Given the description of an element on the screen output the (x, y) to click on. 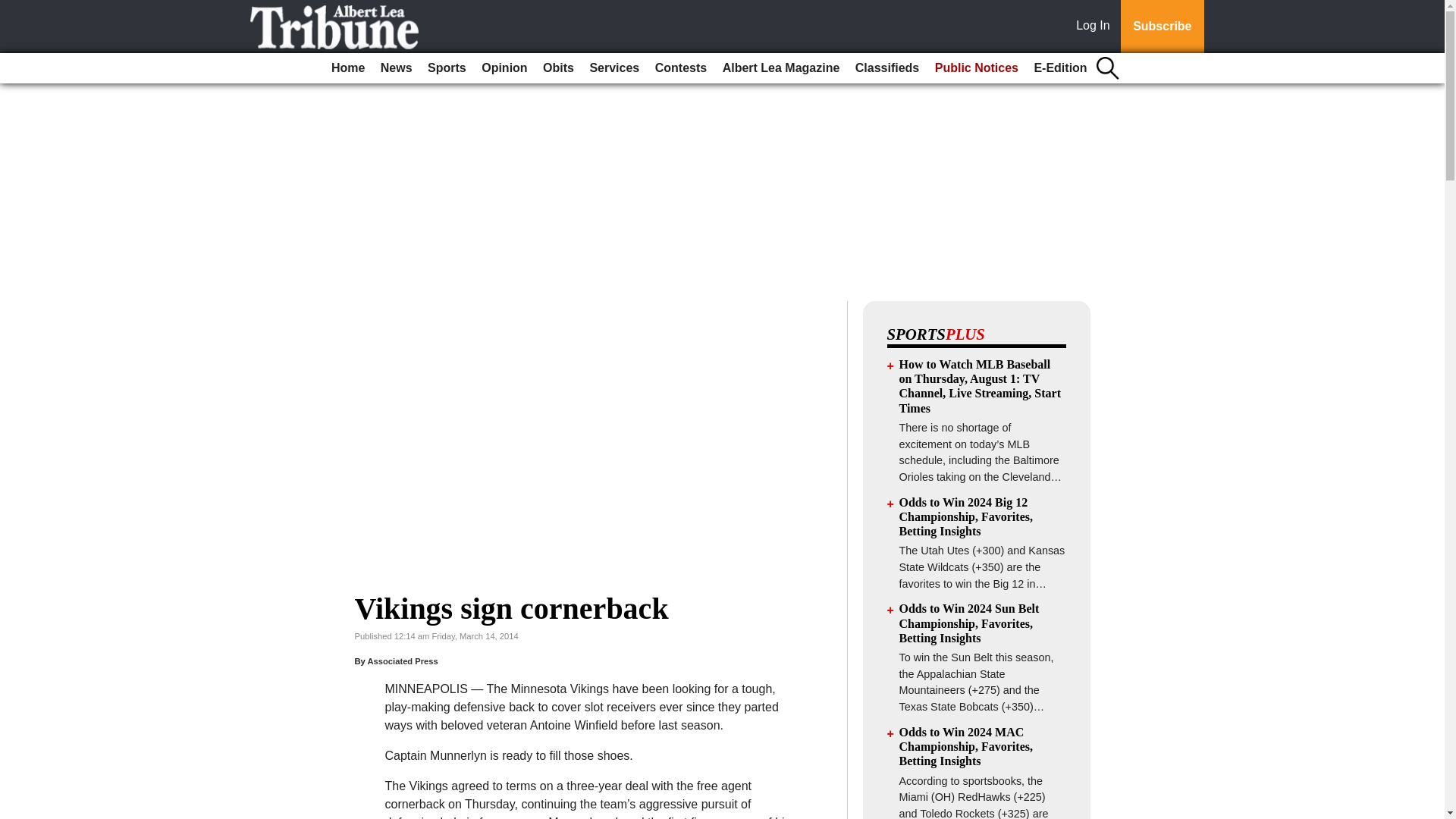
Obits (558, 68)
News (396, 68)
Opinion (504, 68)
Subscribe (1162, 26)
Home (347, 68)
Log In (1095, 26)
Services (614, 68)
Sports (446, 68)
